Given the description of an element on the screen output the (x, y) to click on. 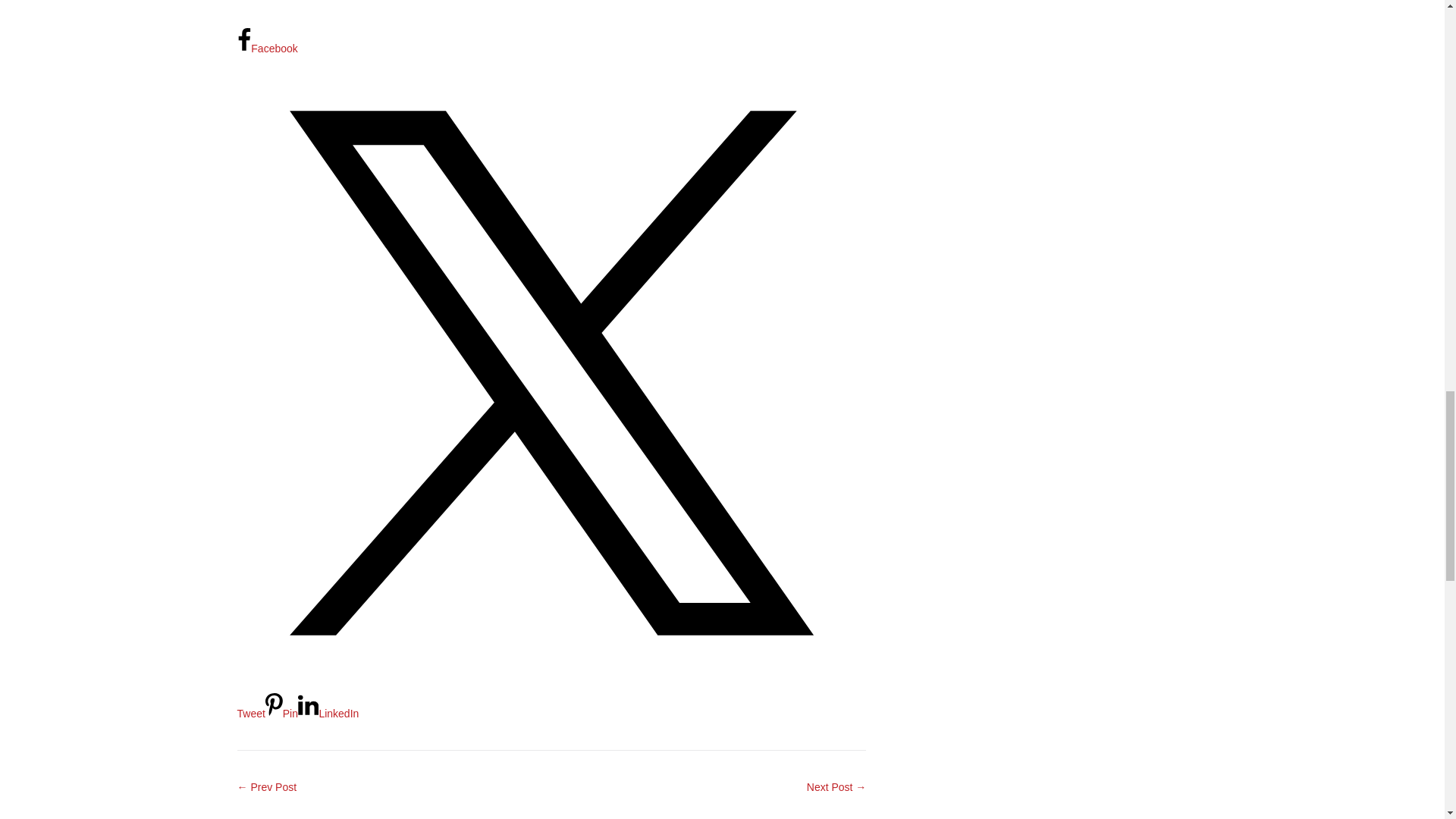
Share on Facebook (266, 48)
Share on Pinterest (281, 713)
Share on LinkedIn (328, 713)
Share on Twitter (550, 699)
